Given the description of an element on the screen output the (x, y) to click on. 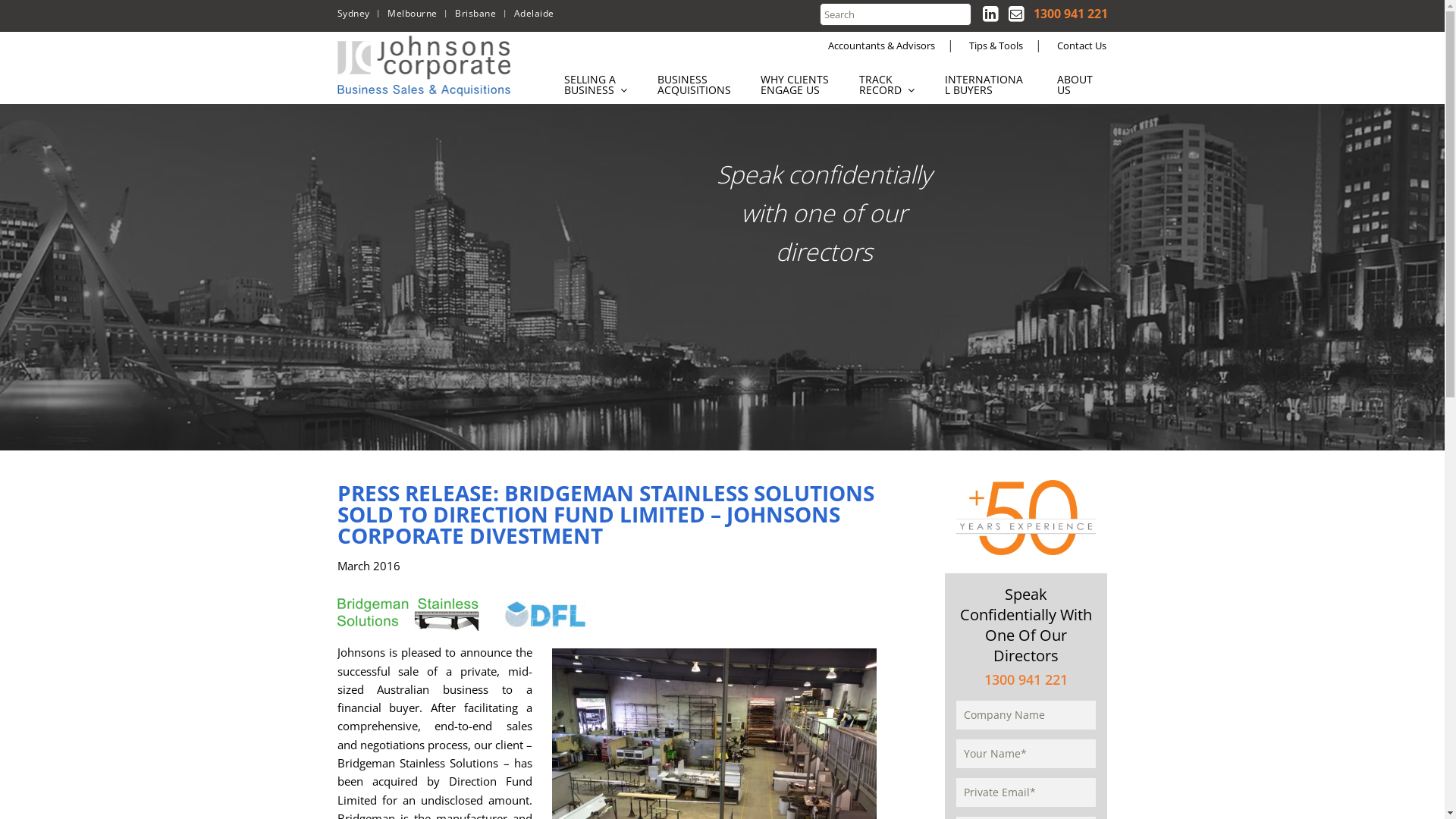
1300 941 221 Element type: text (1025, 679)
Tips & Tools Element type: text (995, 45)
Contact Us Element type: text (1081, 45)
Join us on LinkedIn Element type: hover (990, 12)
Accountants & Advisors Element type: text (881, 45)
TRACK
RECORD Element type: text (886, 84)
BUSINESS
ACQUISITIONS Element type: text (694, 84)
Search Element type: text (75, 14)
WHY CLIENTS
ENGAGE US Element type: text (794, 84)
Speak confidentially
with one of our directors Element type: text (823, 212)
INTERNATIONAL BUYERS Element type: text (985, 84)
Johnsons Corporate Element type: hover (425, 65)
Skip to content Element type: text (524, 65)
SELLING A
BUSINESS Element type: text (594, 84)
1300 941 221 Element type: text (1069, 13)
Contact Us Element type: hover (1016, 12)
ABOUT
US Element type: text (1082, 84)
